Given the description of an element on the screen output the (x, y) to click on. 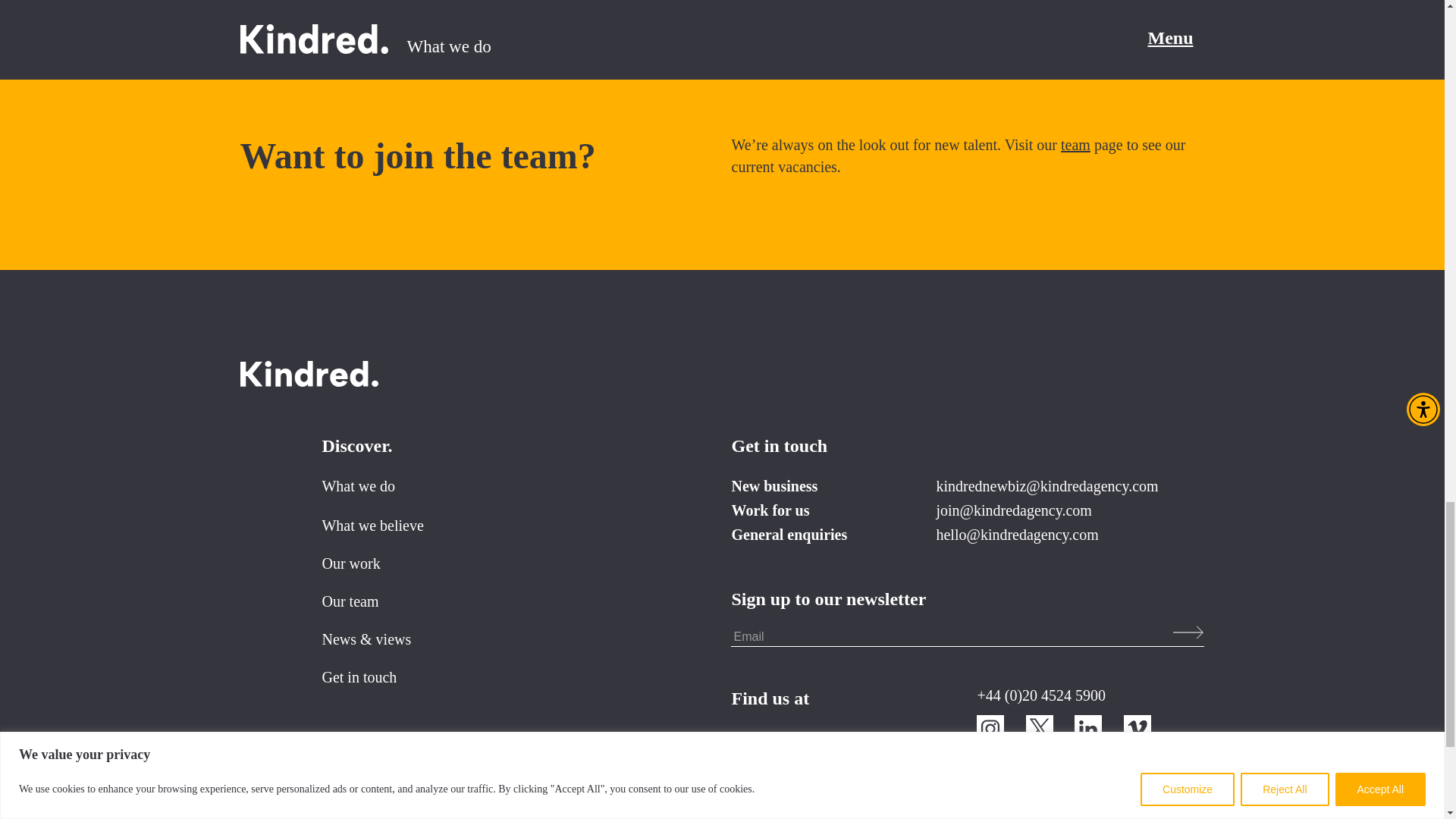
Our team (349, 600)
What we believe (372, 524)
Get in touch (358, 677)
Our work (350, 563)
What we do (357, 485)
team (1075, 144)
